Given the description of an element on the screen output the (x, y) to click on. 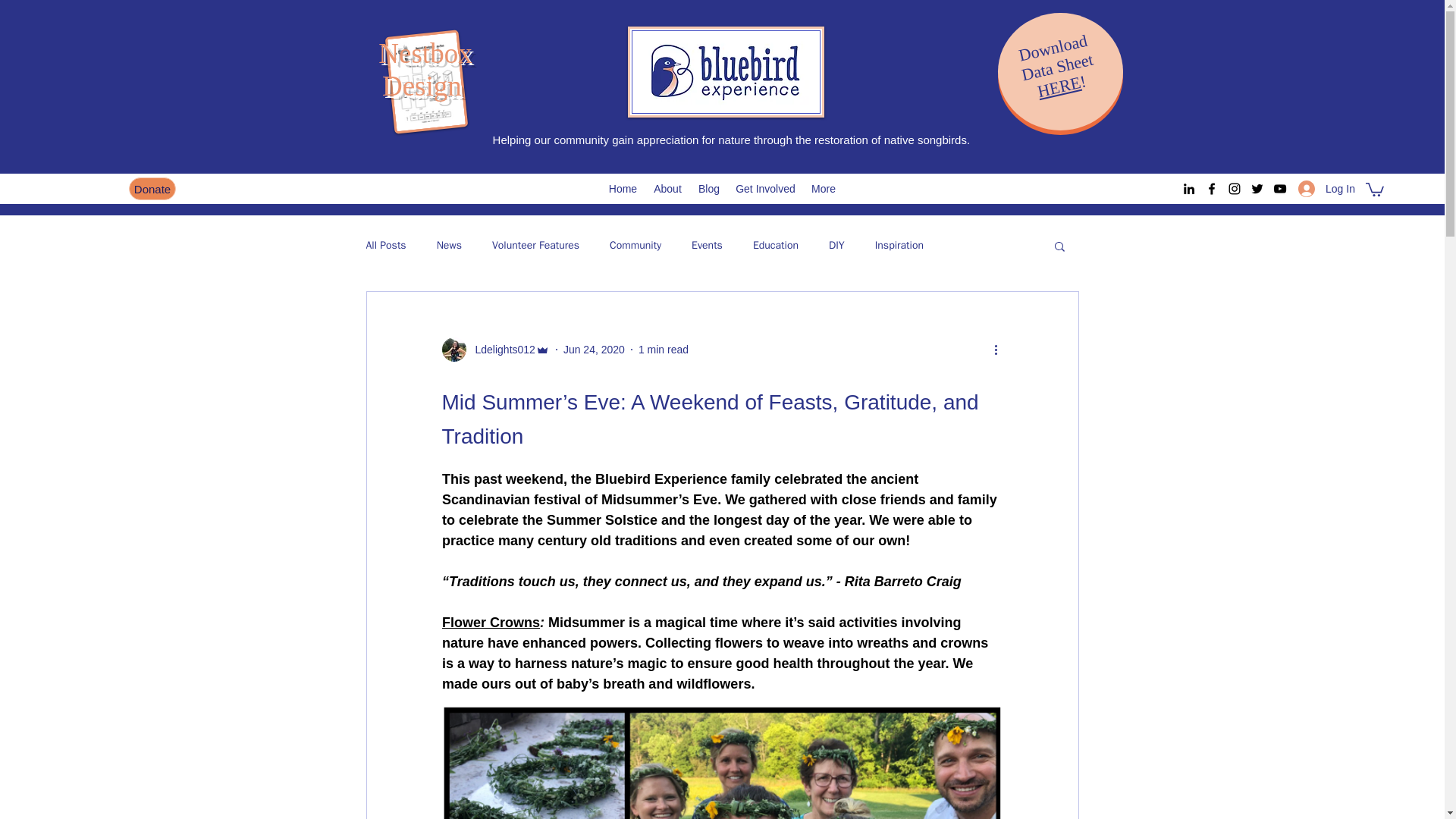
Inspiration (899, 245)
Education (774, 245)
DIY (836, 245)
Ldelights012 (499, 349)
Community (635, 245)
Home (622, 188)
Get Involved (764, 188)
Nestbox Design  (424, 69)
Log In (1326, 189)
Jun 24, 2020 (593, 349)
Donate (152, 188)
All Posts (385, 245)
1 min read (663, 349)
Ldelights012 (494, 349)
Blog (708, 188)
